Given the description of an element on the screen output the (x, y) to click on. 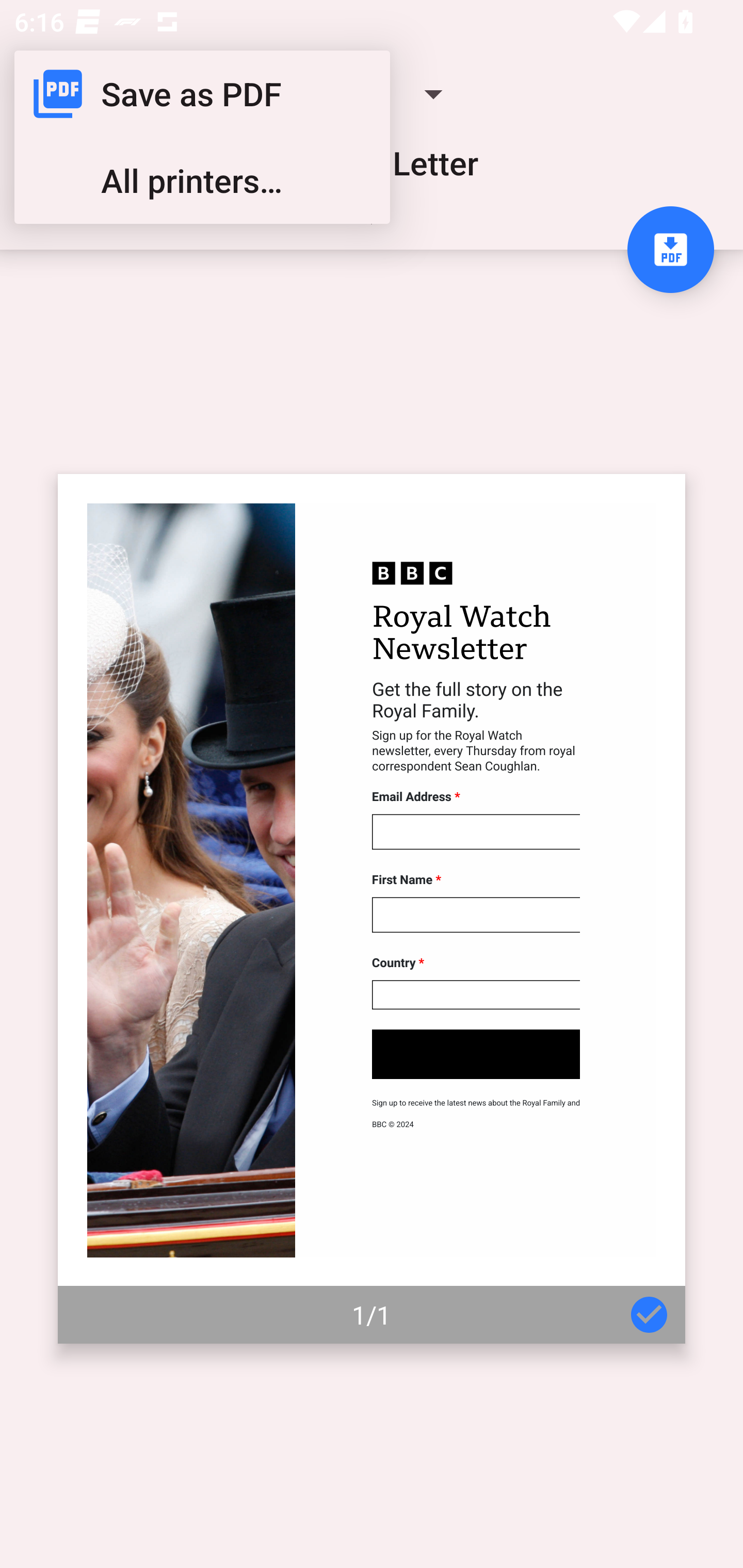
Save as PDF (202, 93)
All printers… (202, 180)
